Given the description of an element on the screen output the (x, y) to click on. 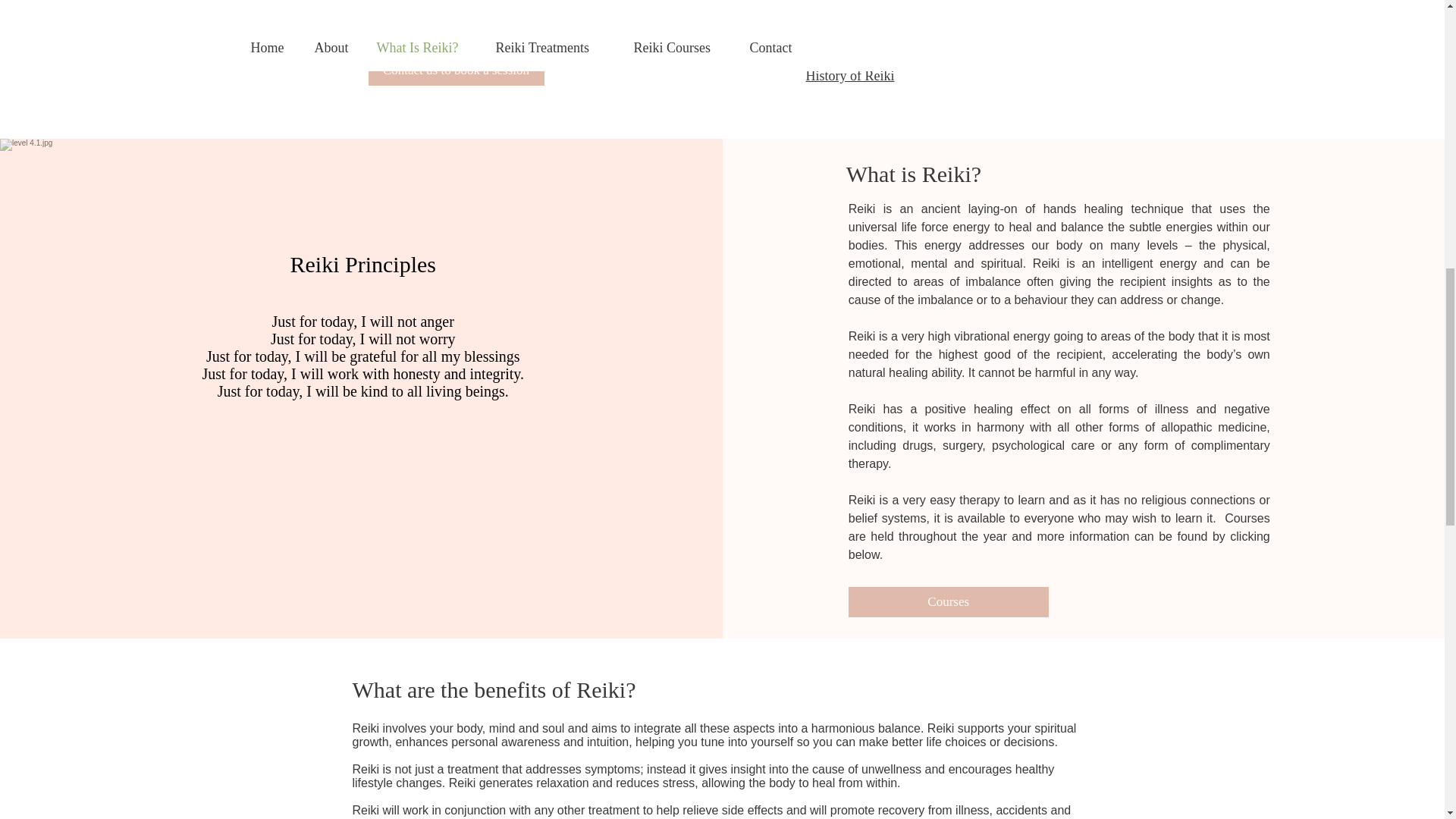
What is Reiki? (845, 43)
Courses (948, 602)
Contact us to book a session (456, 70)
History of Reiki (849, 75)
Benefits of Reiki (851, 59)
